Given the description of an element on the screen output the (x, y) to click on. 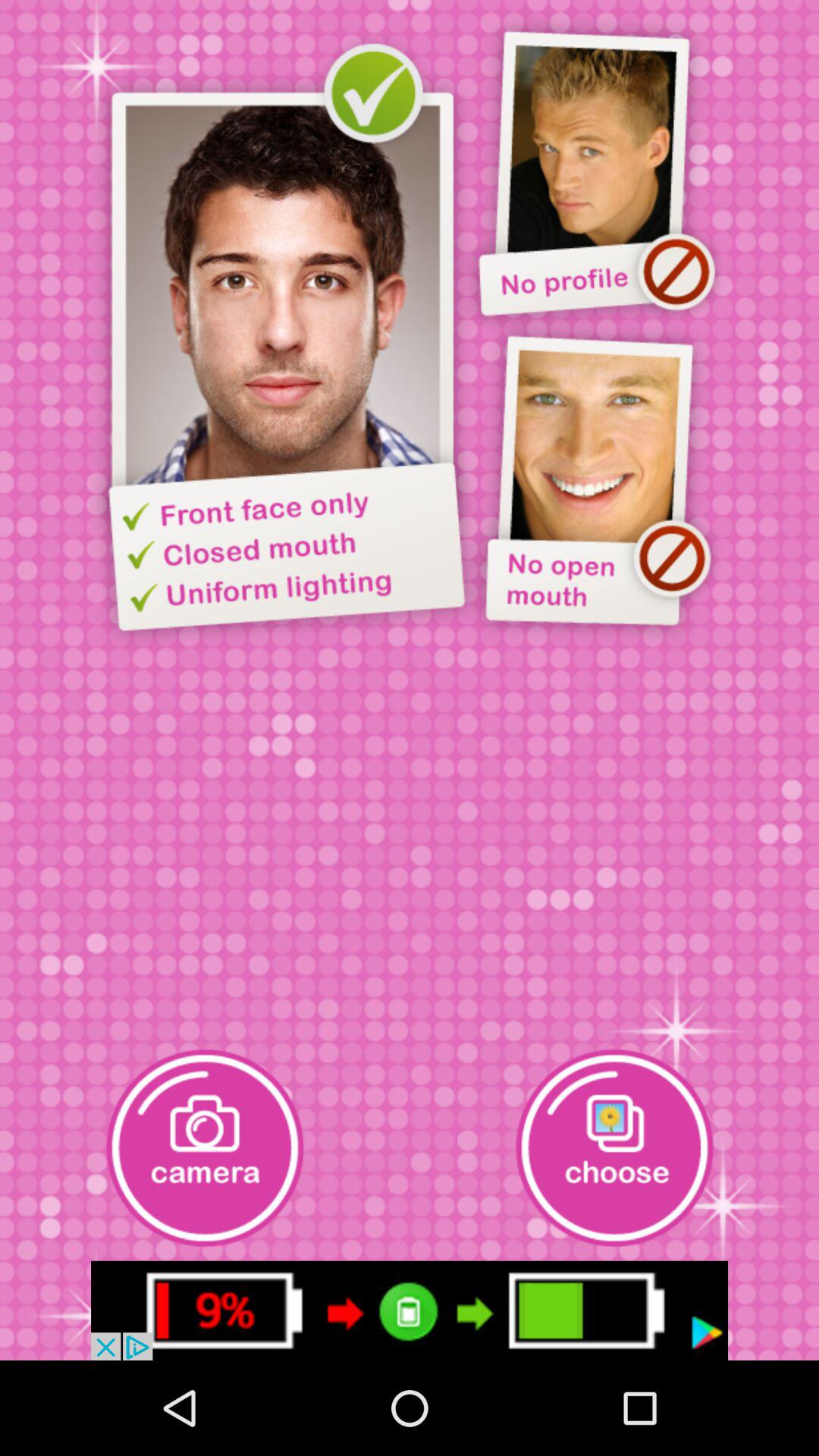
select photo from camera roll (613, 1147)
